Given the description of an element on the screen output the (x, y) to click on. 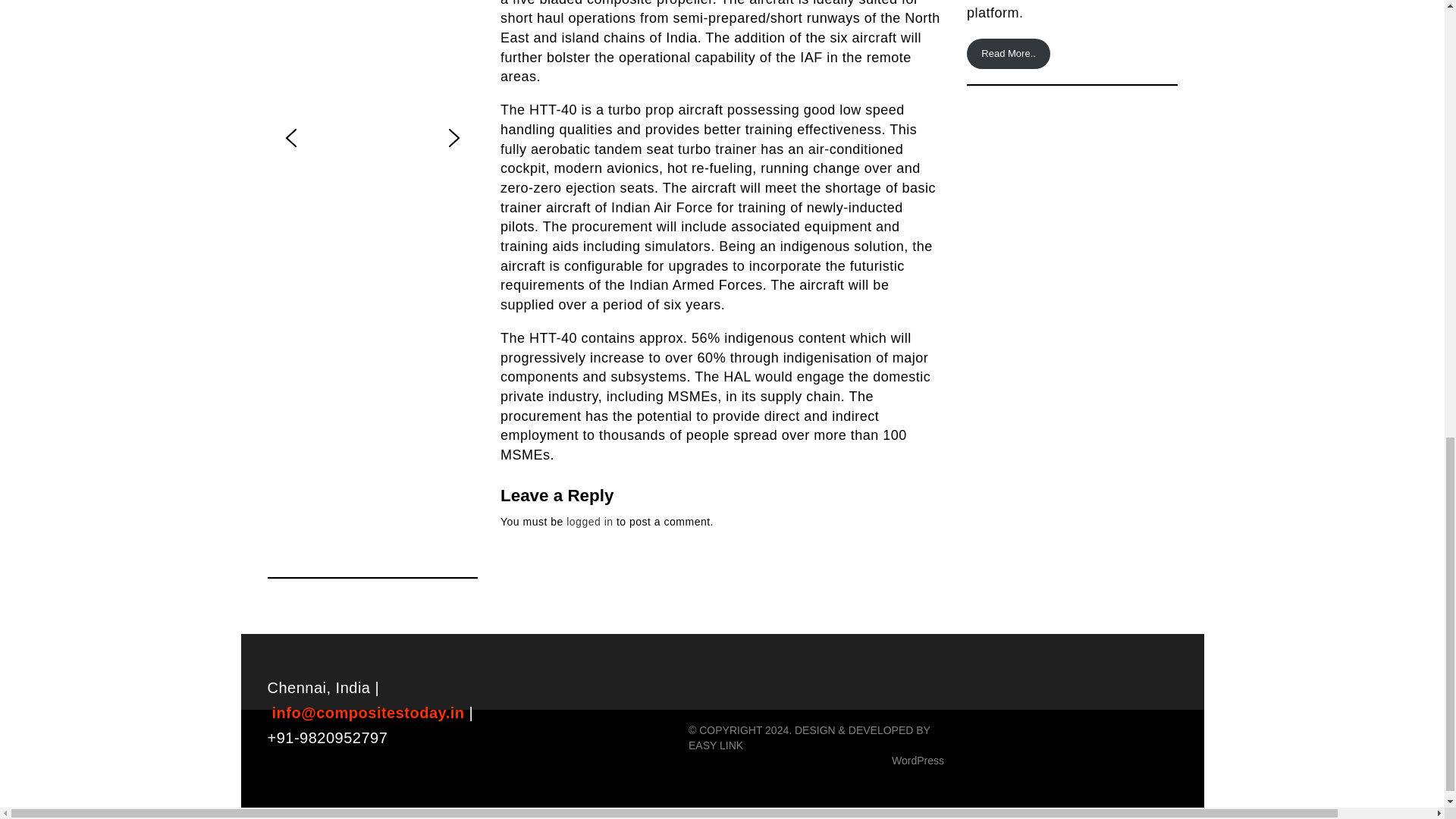
Read More.. (1007, 53)
logged in (589, 521)
WordPress (917, 760)
